Given the description of an element on the screen output the (x, y) to click on. 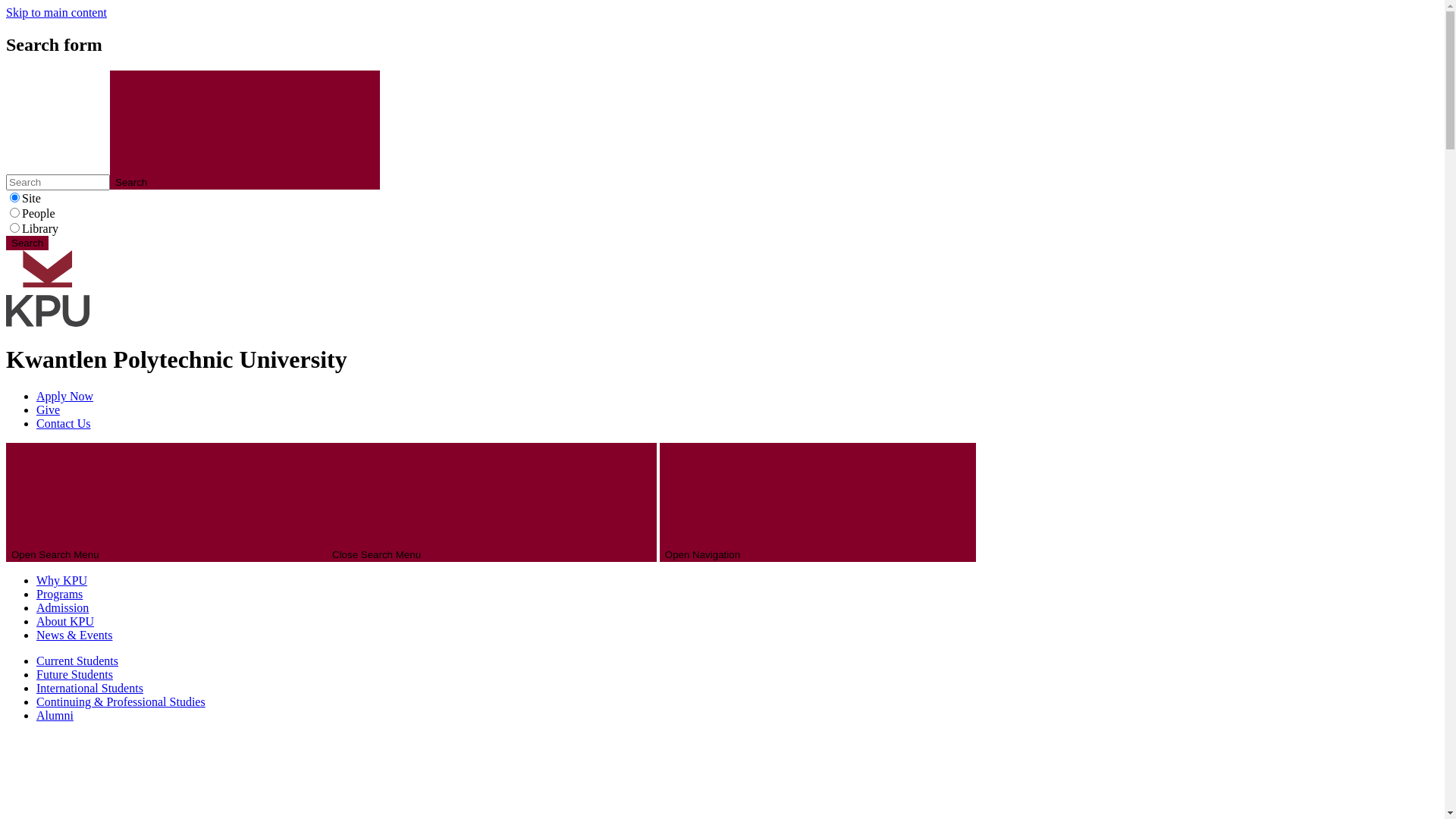
Skip to main content Element type: text (56, 12)
International Students Element type: text (89, 687)
Open Search Menu Close Search Menu Element type: text (331, 501)
News & Events Element type: text (74, 634)
Apply Now Element type: text (64, 395)
Continuing & Professional Studies Element type: text (120, 701)
Contact Us Element type: text (63, 423)
Home Element type: hover (47, 322)
Alumni Element type: text (54, 715)
Open Navigation Element type: text (817, 501)
Current Students Element type: text (77, 660)
Search Element type: text (27, 242)
Admission Element type: text (62, 607)
Enter the terms you wish to search for. Element type: hover (57, 182)
Search Element type: text (244, 129)
About KPU Element type: text (65, 621)
Why KPU Element type: text (61, 580)
Programs Element type: text (59, 593)
Future Students Element type: text (74, 674)
Give Element type: text (47, 409)
